Given the description of an element on the screen output the (x, y) to click on. 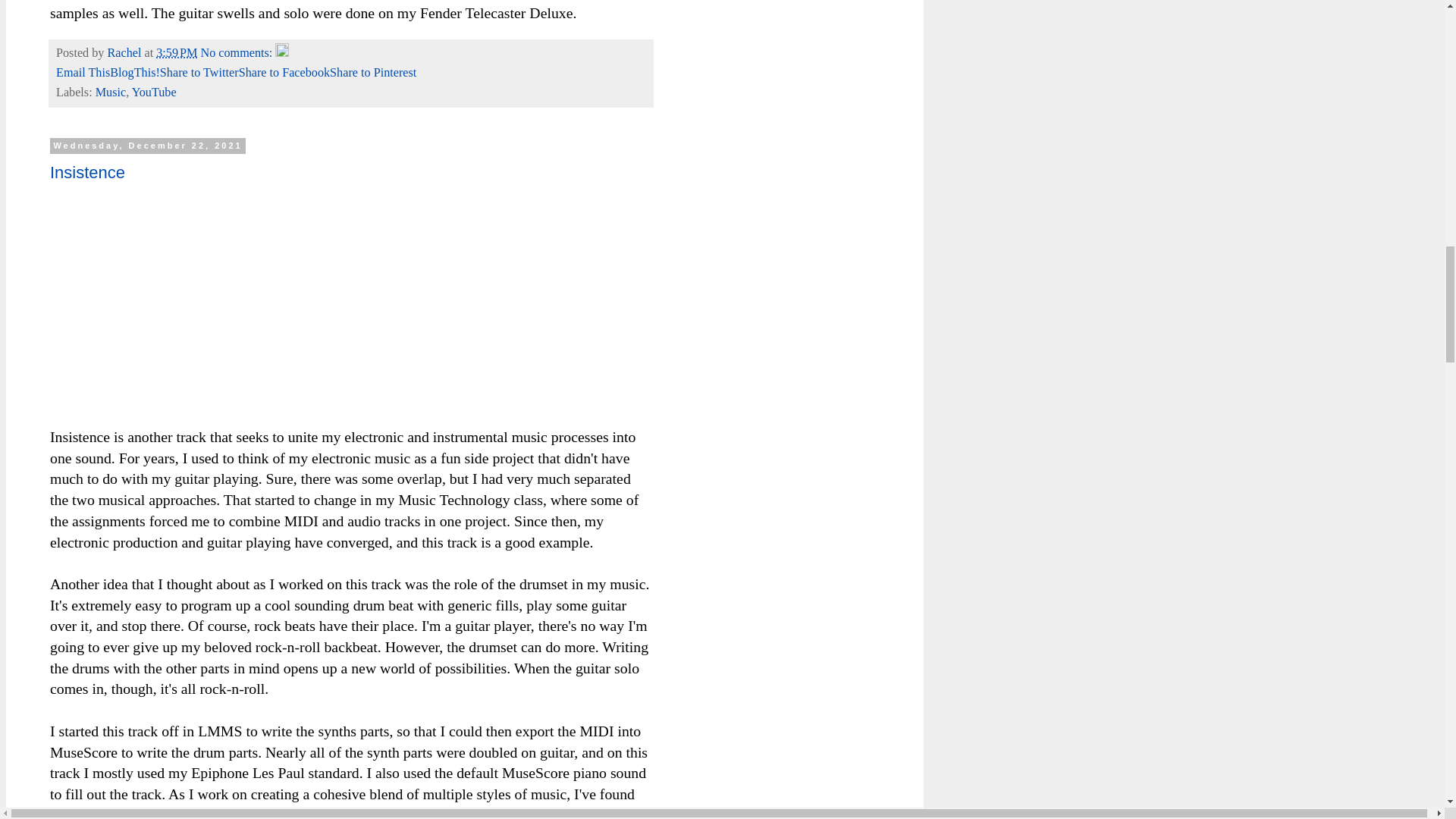
Edit Post (281, 52)
Email This (83, 72)
BlogThis! (135, 72)
Share to Pinterest (373, 72)
No comments: (237, 52)
Rachel (125, 52)
Email This (83, 72)
Share to Facebook (284, 72)
YouTube (154, 92)
Share to Twitter (199, 72)
Share to Twitter (199, 72)
Insistence (87, 171)
BlogThis! (135, 72)
Share to Facebook (284, 72)
